Given the description of an element on the screen output the (x, y) to click on. 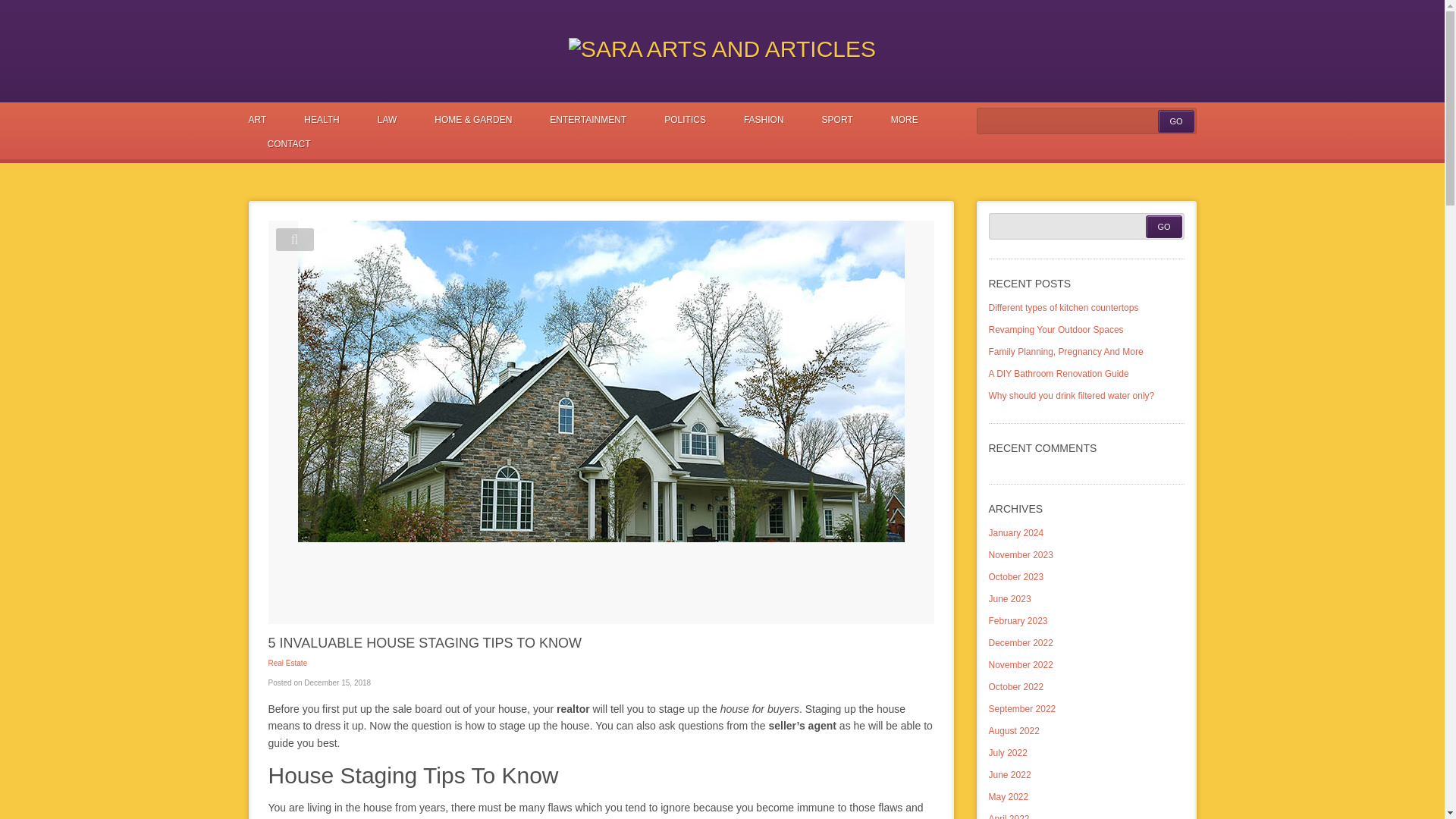
LAW (387, 119)
Search (1086, 120)
GO (1162, 226)
GO (1162, 226)
Revamping Your Outdoor Spaces (1056, 329)
Why should you drink filtered water only? (1071, 395)
MORE (904, 119)
POLITICS (685, 119)
GO (1175, 120)
Different types of kitchen countertops (1063, 307)
ART (266, 119)
FASHION (764, 119)
CONTACT (279, 143)
GO (1175, 120)
June 2023 (1009, 598)
